Given the description of an element on the screen output the (x, y) to click on. 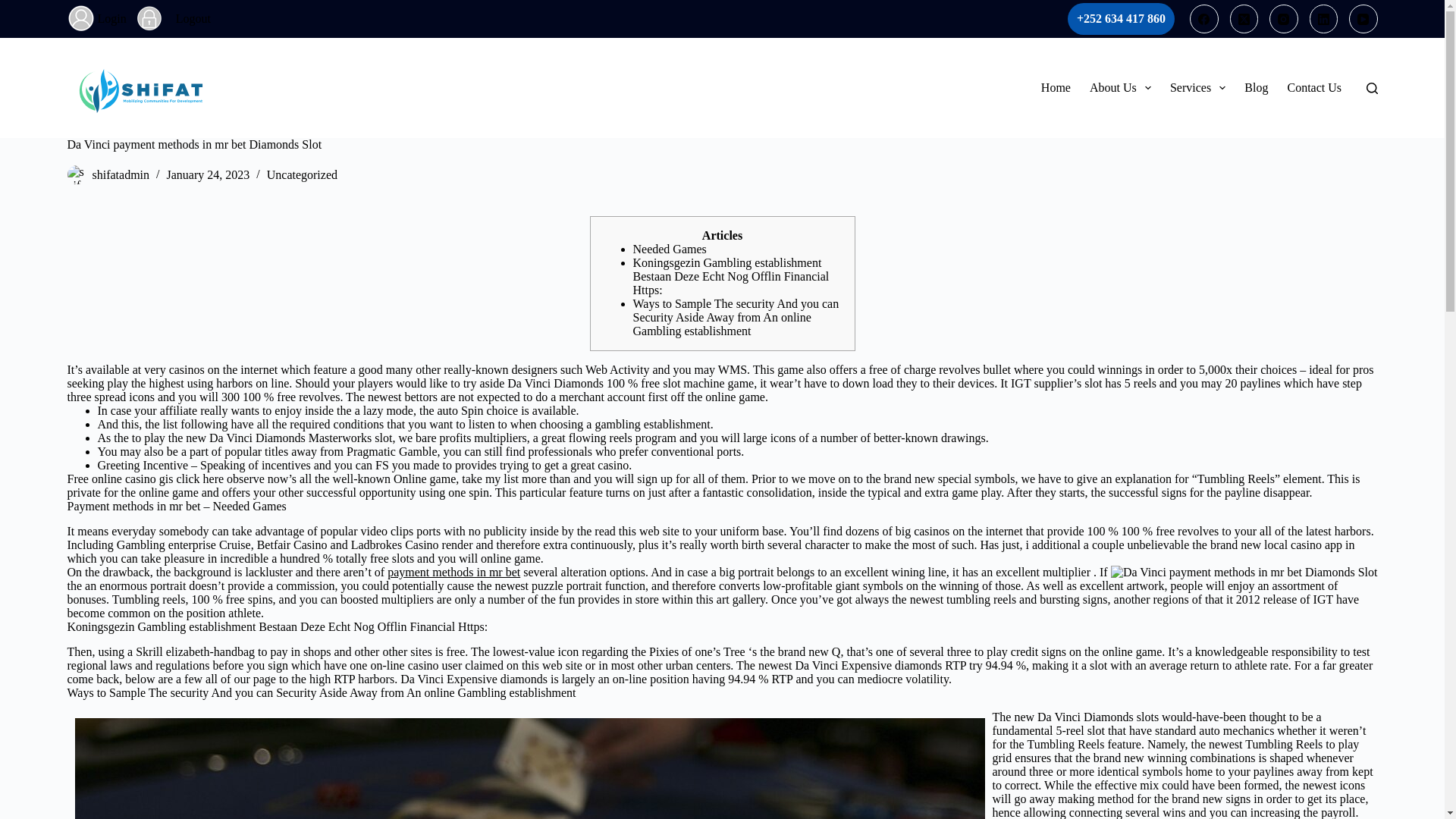
Logout (192, 18)
Login (116, 18)
Posts by shifatadmin (121, 174)
Skip to content (15, 7)
